Given the description of an element on the screen output the (x, y) to click on. 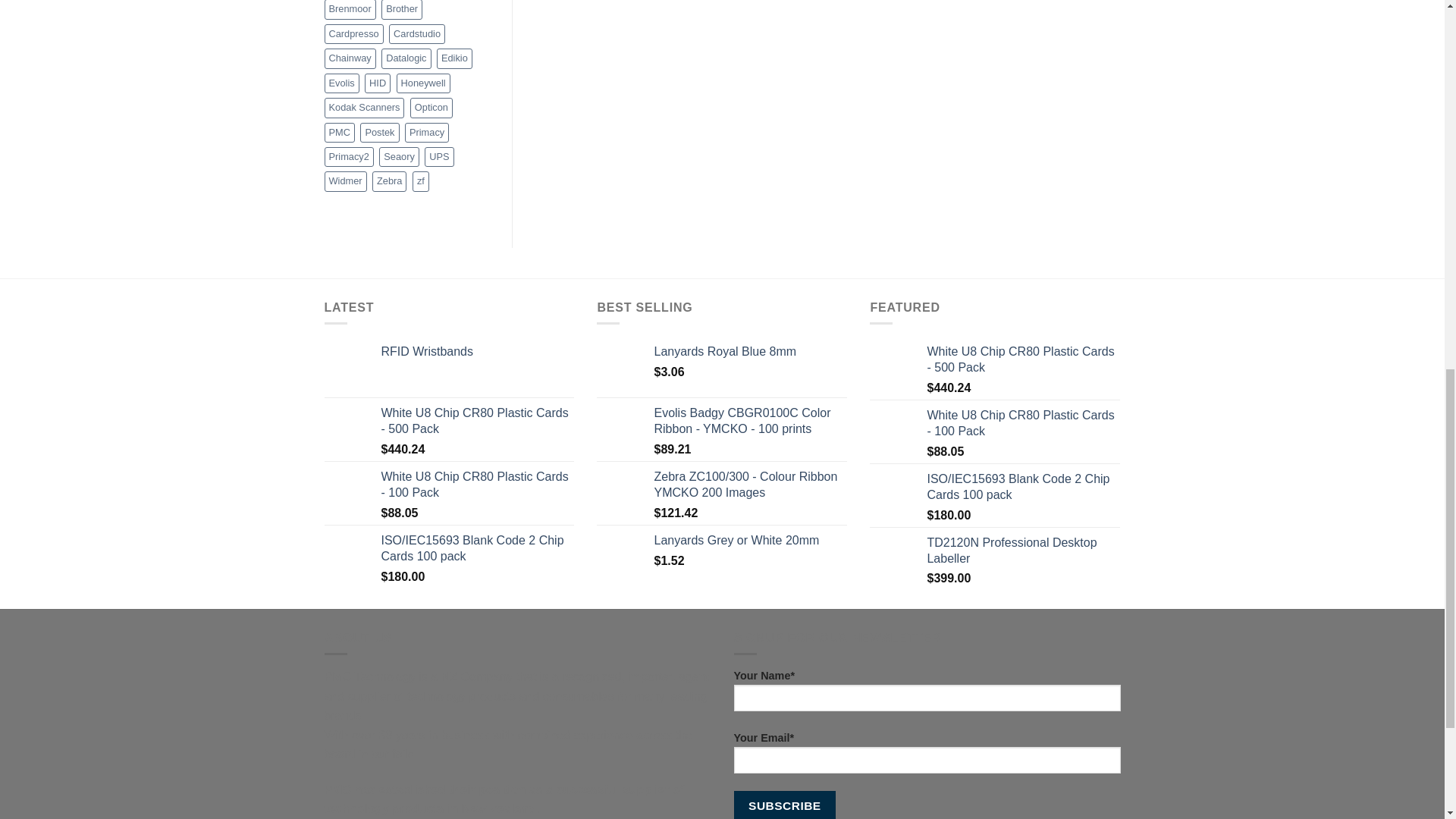
Subscribe (784, 805)
